Given the description of an element on the screen output the (x, y) to click on. 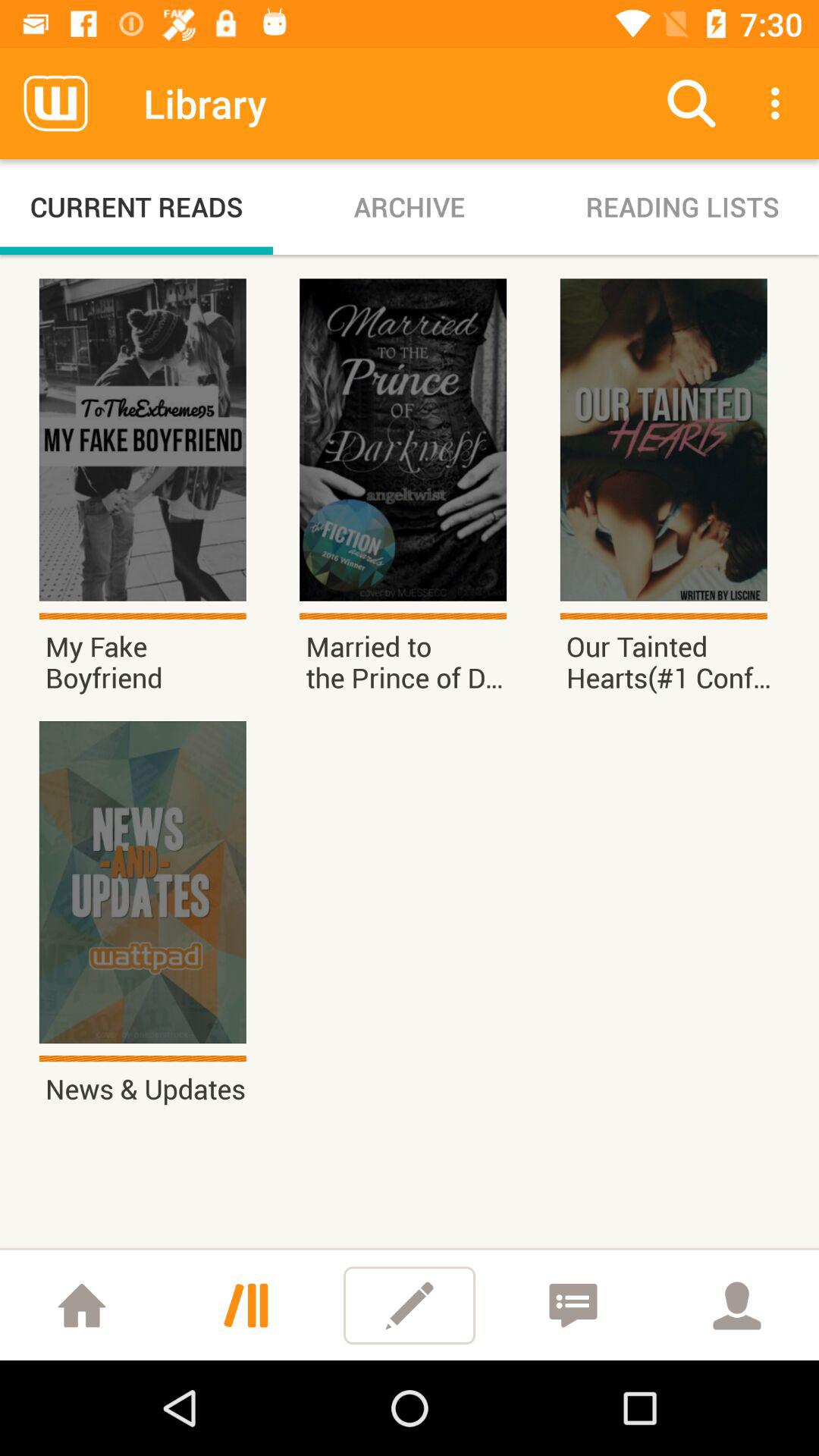
open the icon to the left of reading lists item (409, 206)
